Given the description of an element on the screen output the (x, y) to click on. 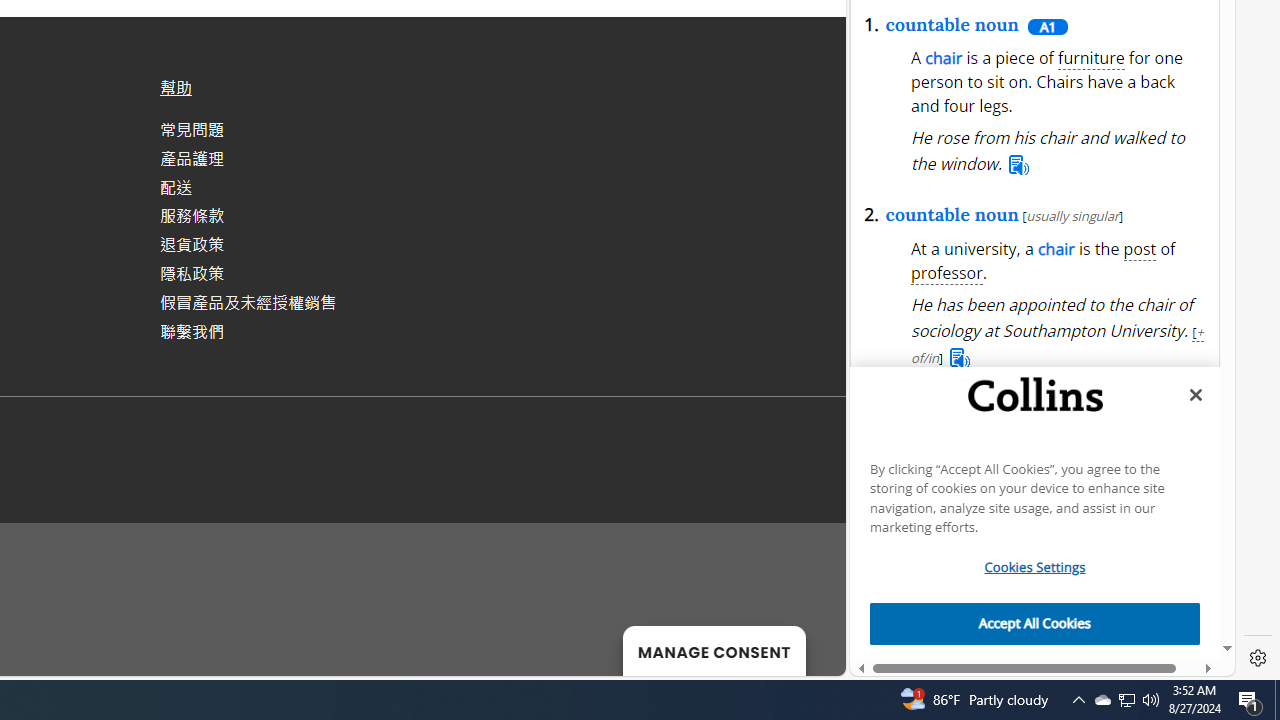
furniture (1091, 58)
[+ of] (1161, 601)
post (1139, 250)
Cookies Settings (1035, 567)
committee (951, 518)
Show more (1149, 125)
